Given the description of an element on the screen output the (x, y) to click on. 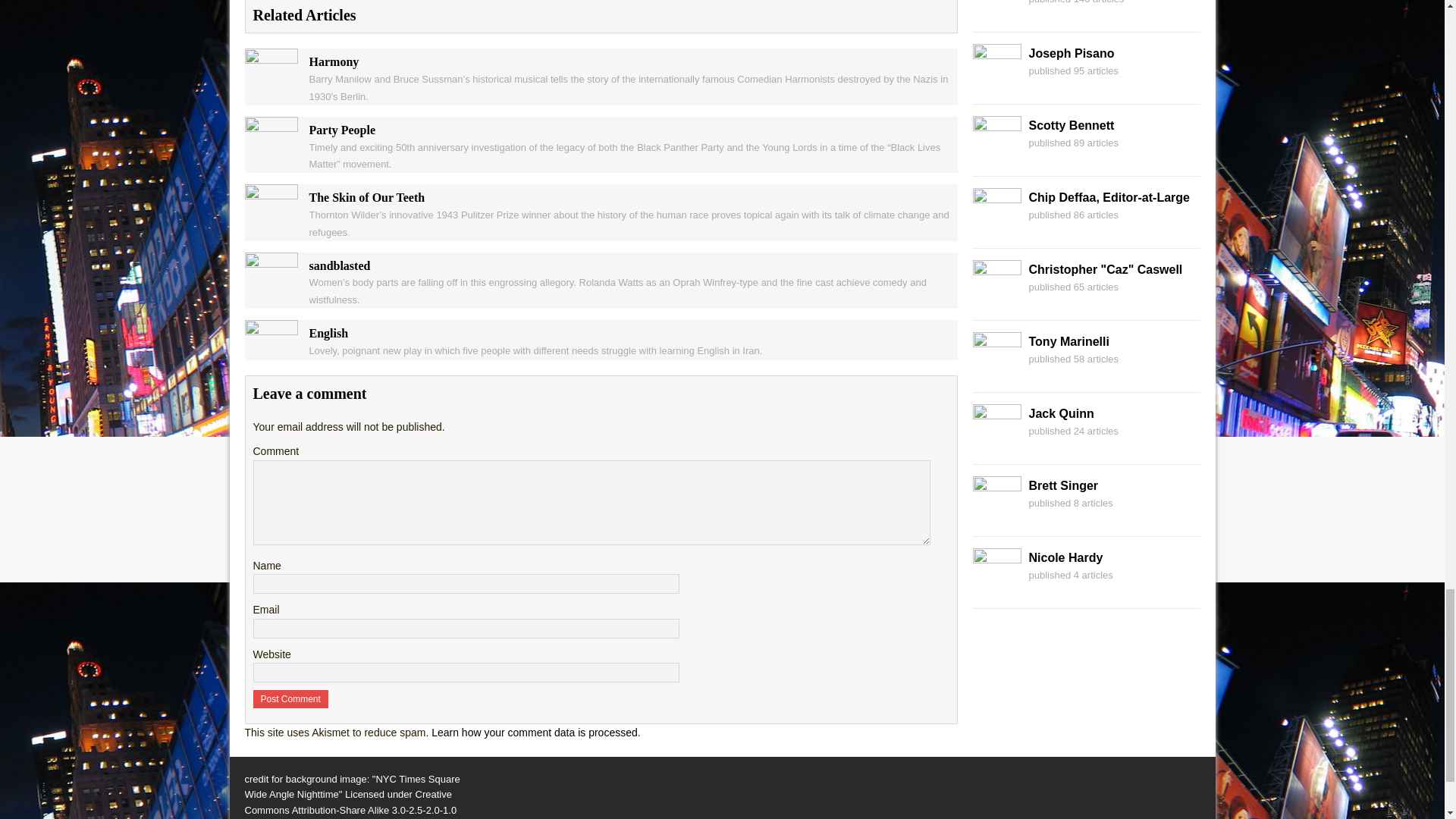
Post Comment (291, 699)
Party People (270, 147)
English (270, 351)
The Skin of Our Teeth (270, 215)
sandblasted (270, 283)
Harmony (270, 80)
